Given the description of an element on the screen output the (x, y) to click on. 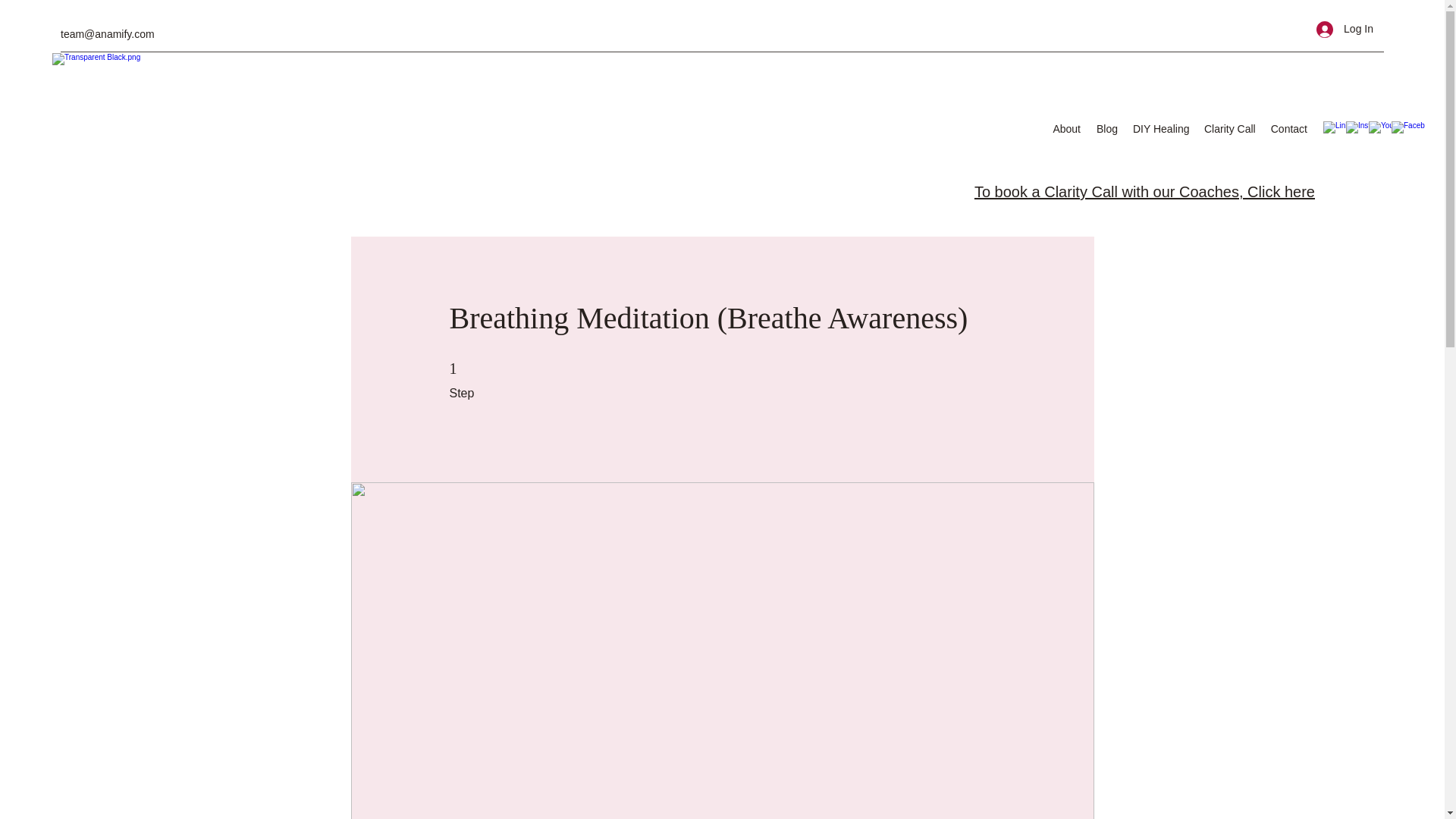
About (1064, 128)
Clarity Call (1229, 128)
Contact (1288, 128)
Blog (1106, 128)
To book a Clarity Call with our Coaches, Click here (1144, 191)
Log In (1345, 29)
DIY Healing (1160, 128)
